Given the description of an element on the screen output the (x, y) to click on. 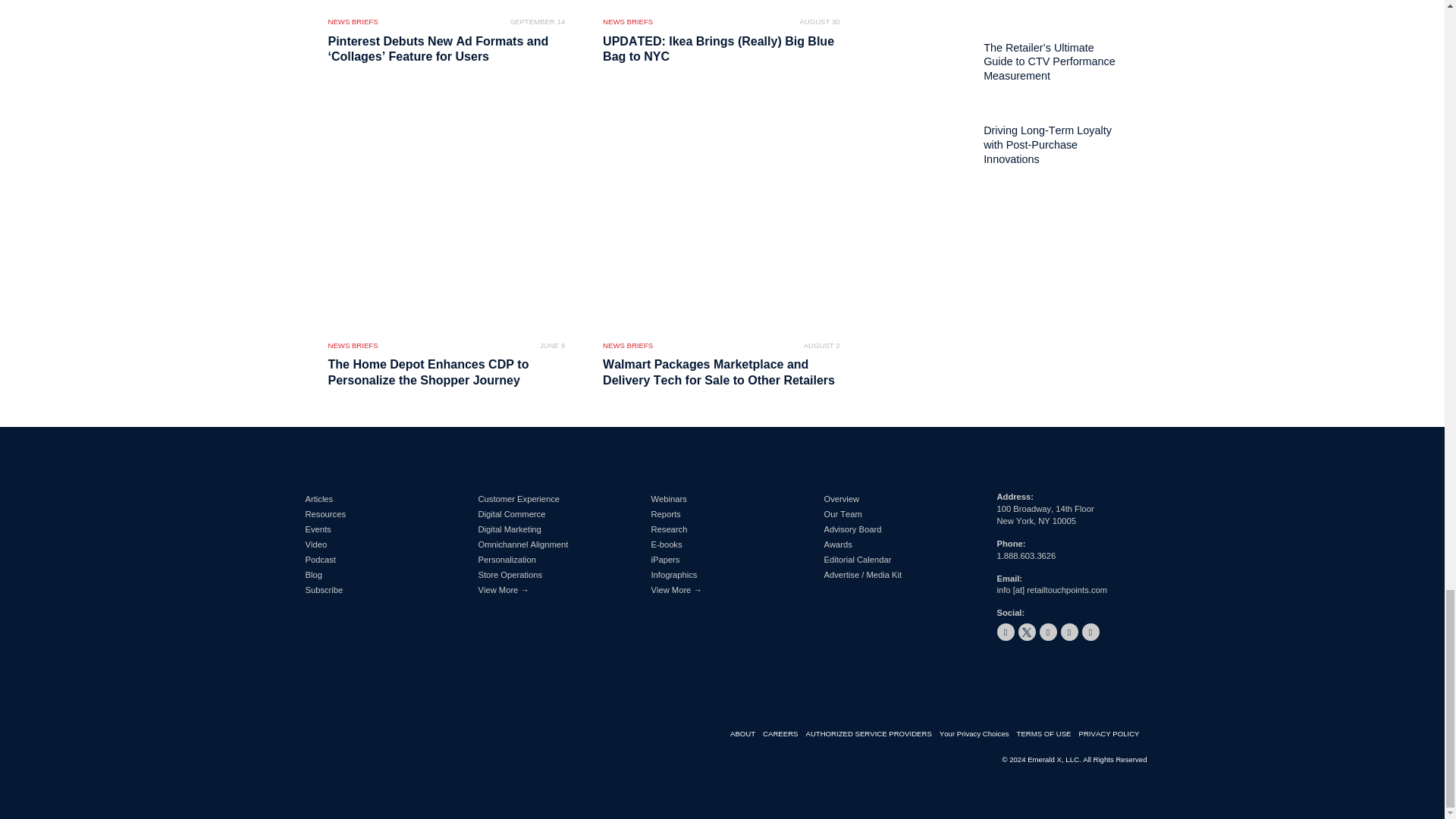
about (746, 733)
terms-of-use (1047, 733)
your-privacy-choices (977, 733)
authorized-service-providers (872, 733)
careers (783, 733)
privacy-policy (1112, 733)
